Given the description of an element on the screen output the (x, y) to click on. 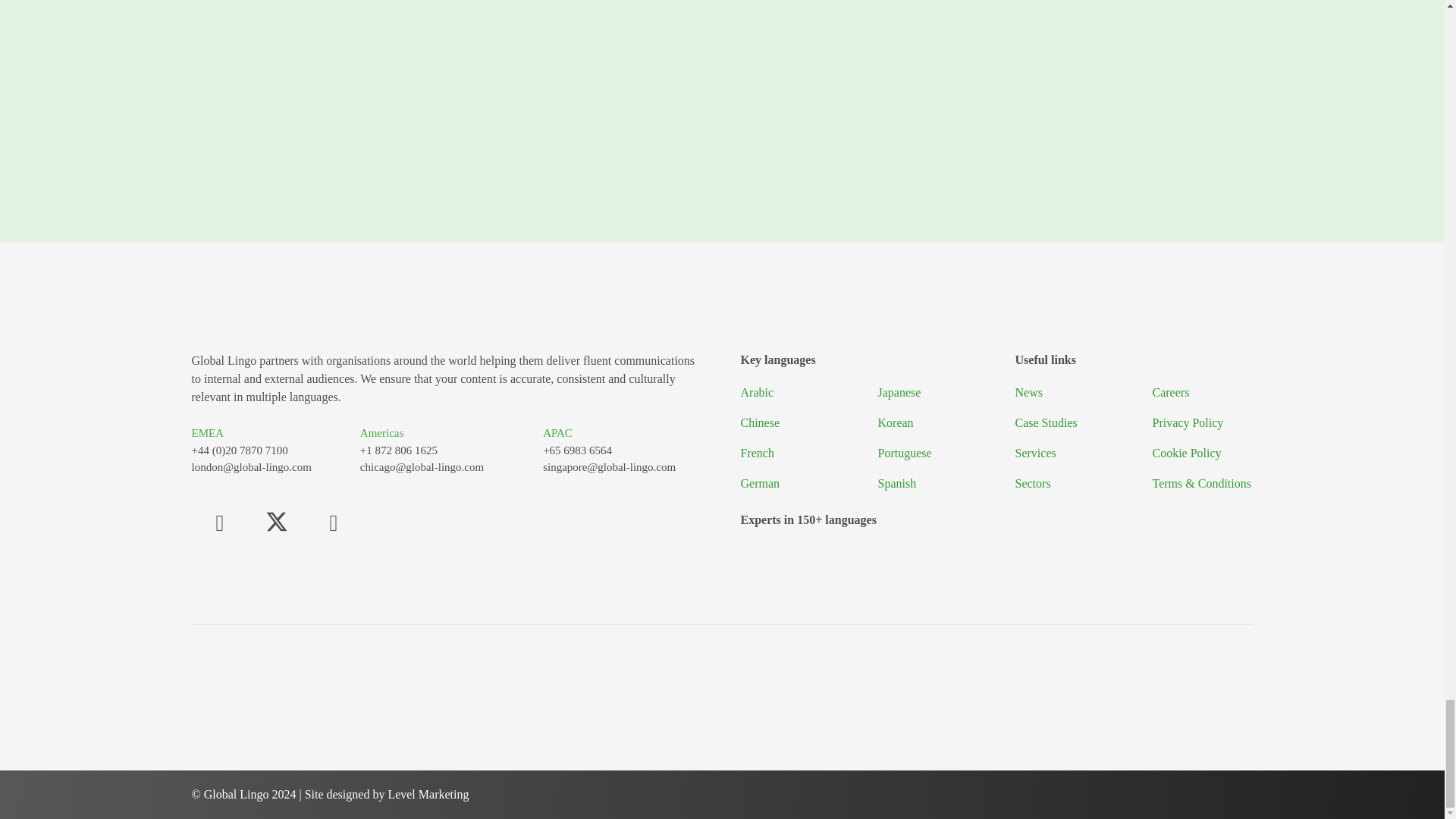
Twitter (276, 522)
LinkedIn (332, 522)
Facebook (218, 522)
